Given the description of an element on the screen output the (x, y) to click on. 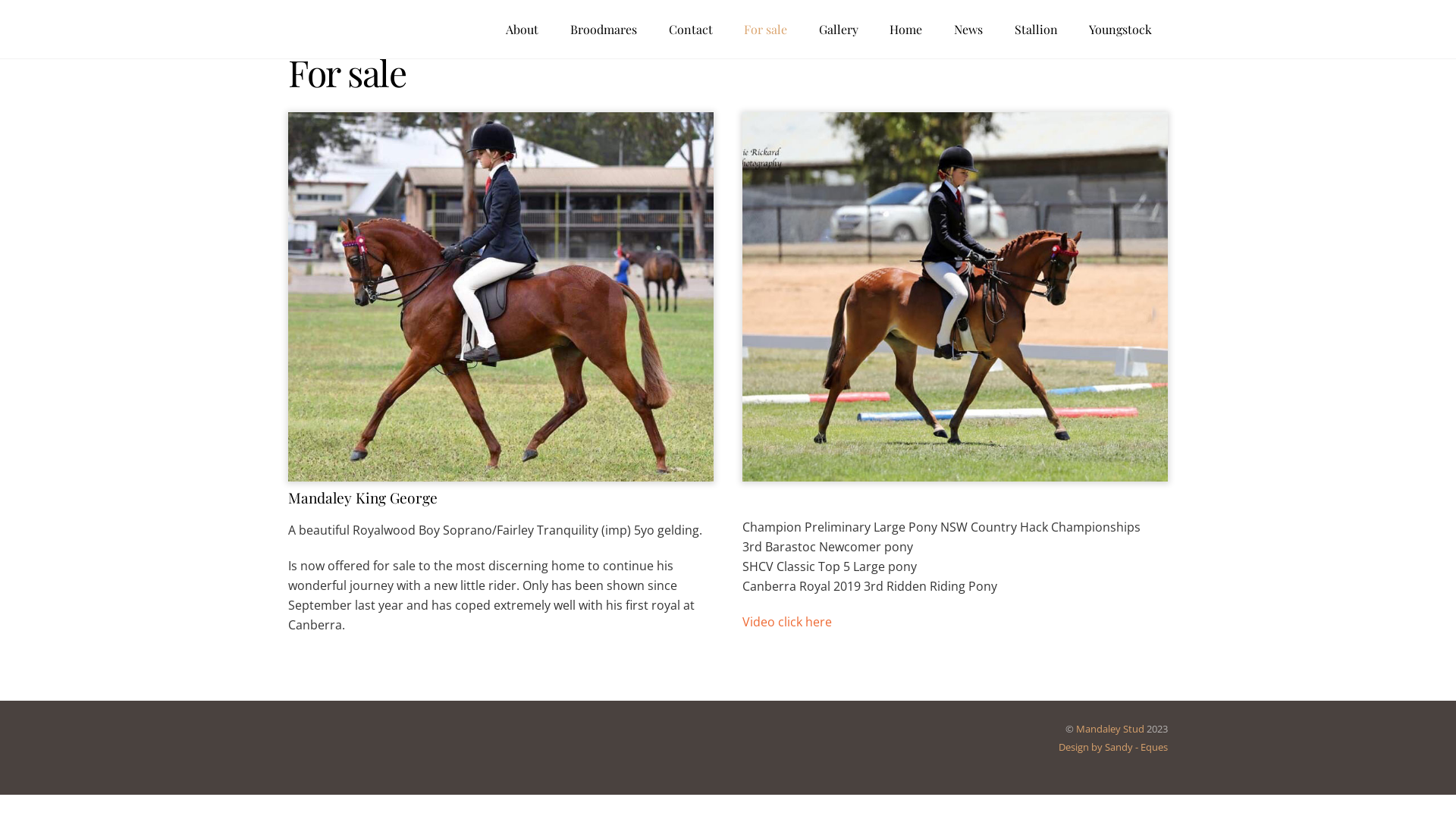
Youngstock Element type: text (1120, 29)
Broodmares Element type: text (603, 29)
Video click here Element type: text (786, 621)
Mandaley Stud Element type: text (1110, 728)
Stallion Element type: text (1035, 29)
Mandaley King George Element type: text (362, 497)
Contact Element type: text (690, 29)
Gallery Element type: text (838, 29)
Mandaley King George Element type: hover (500, 296)
Home Element type: text (906, 29)
For sale Element type: text (765, 29)
News Element type: text (968, 29)
Design by Sandy - Eques Element type: text (1112, 746)
About Element type: text (522, 29)
